Given the description of an element on the screen output the (x, y) to click on. 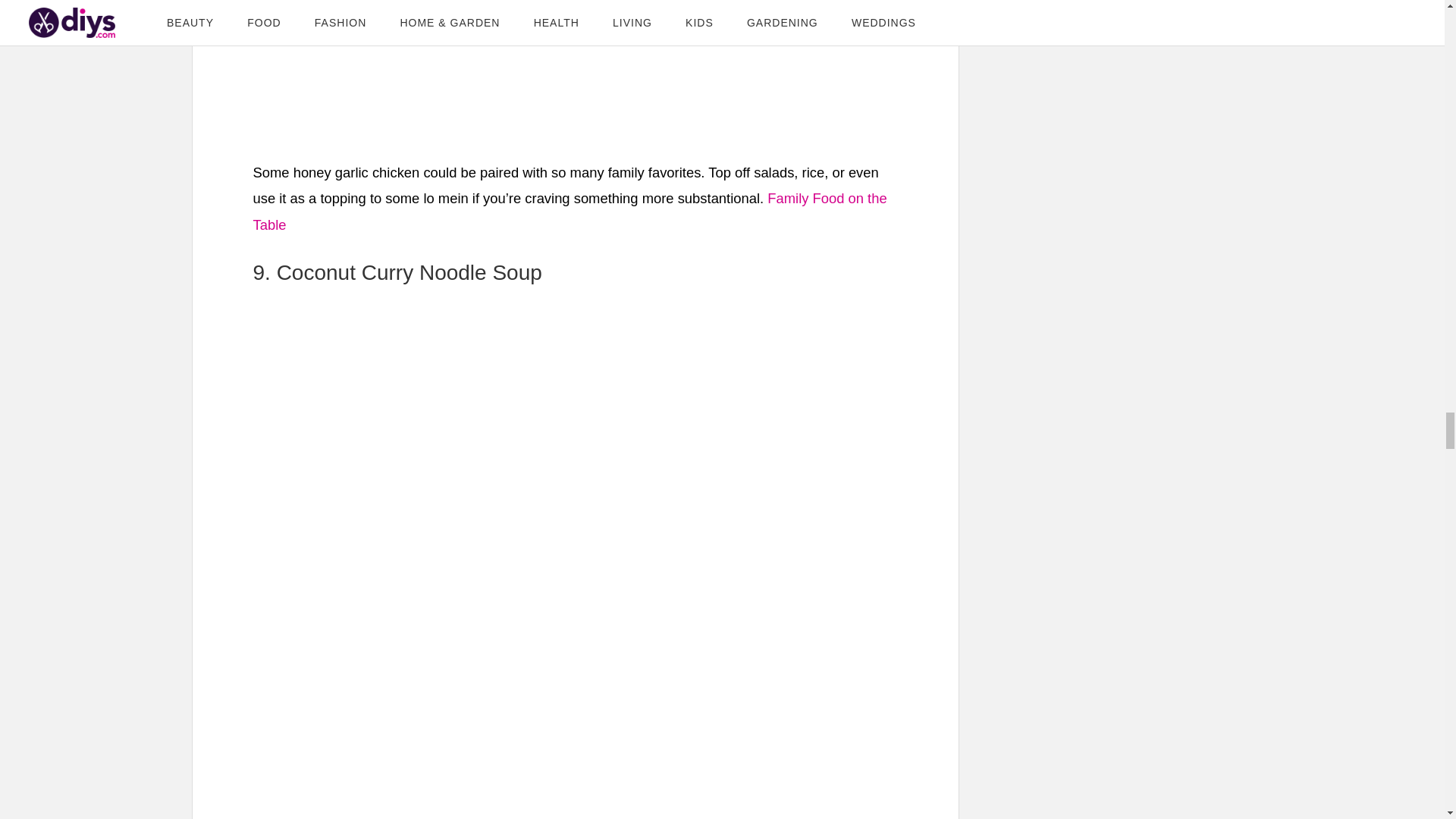
Family Food on the Table (569, 210)
